Given the description of an element on the screen output the (x, y) to click on. 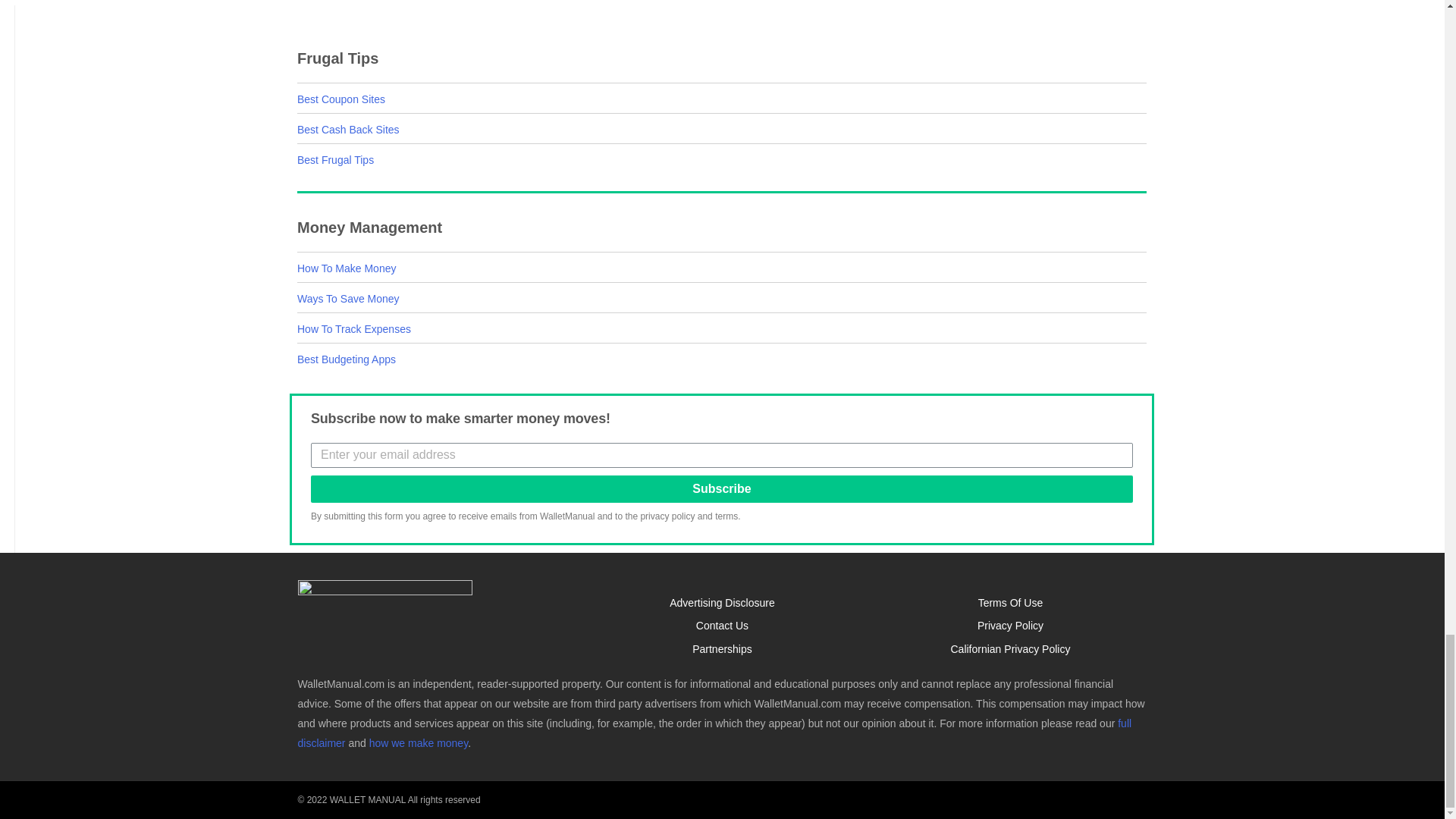
How To Track Expenses (353, 328)
Best Coupon Sites (341, 99)
Best Frugal Tips (335, 159)
How To Make Money (346, 268)
Best Cash Back Sites (347, 129)
Ways To Save Money (347, 298)
